Given the description of an element on the screen output the (x, y) to click on. 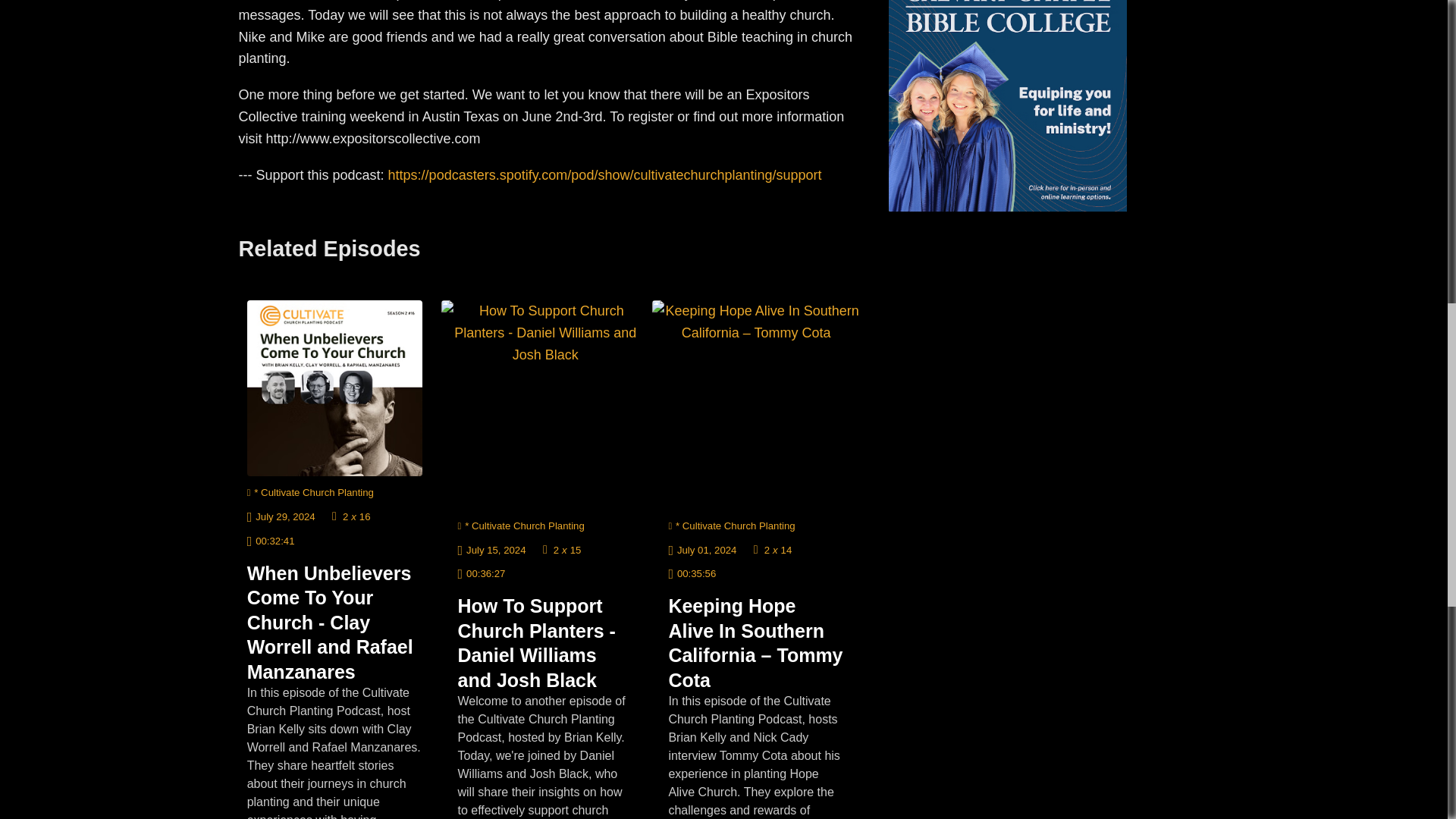
Podcast (310, 491)
Date (281, 515)
Episode Duration (271, 540)
